Given the description of an element on the screen output the (x, y) to click on. 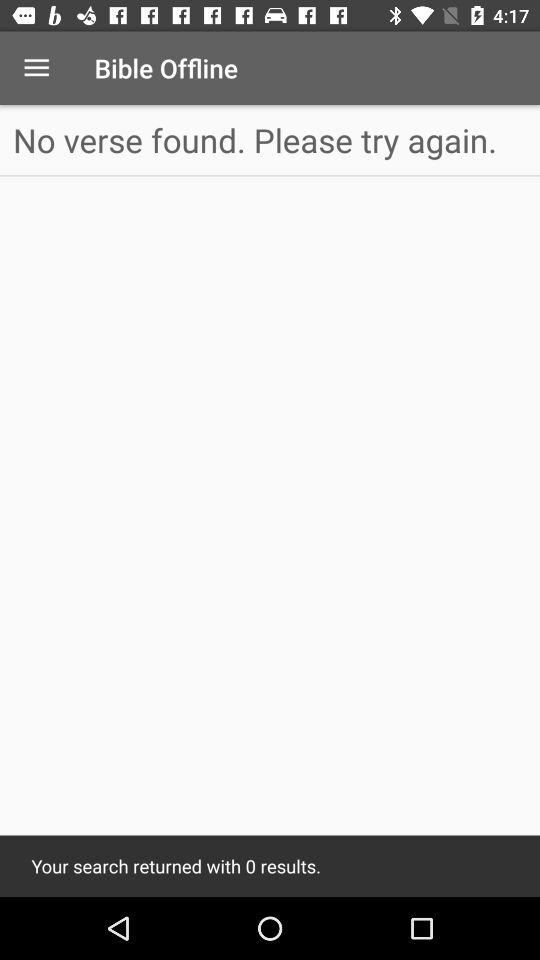
click item above the your search returned icon (270, 140)
